Given the description of an element on the screen output the (x, y) to click on. 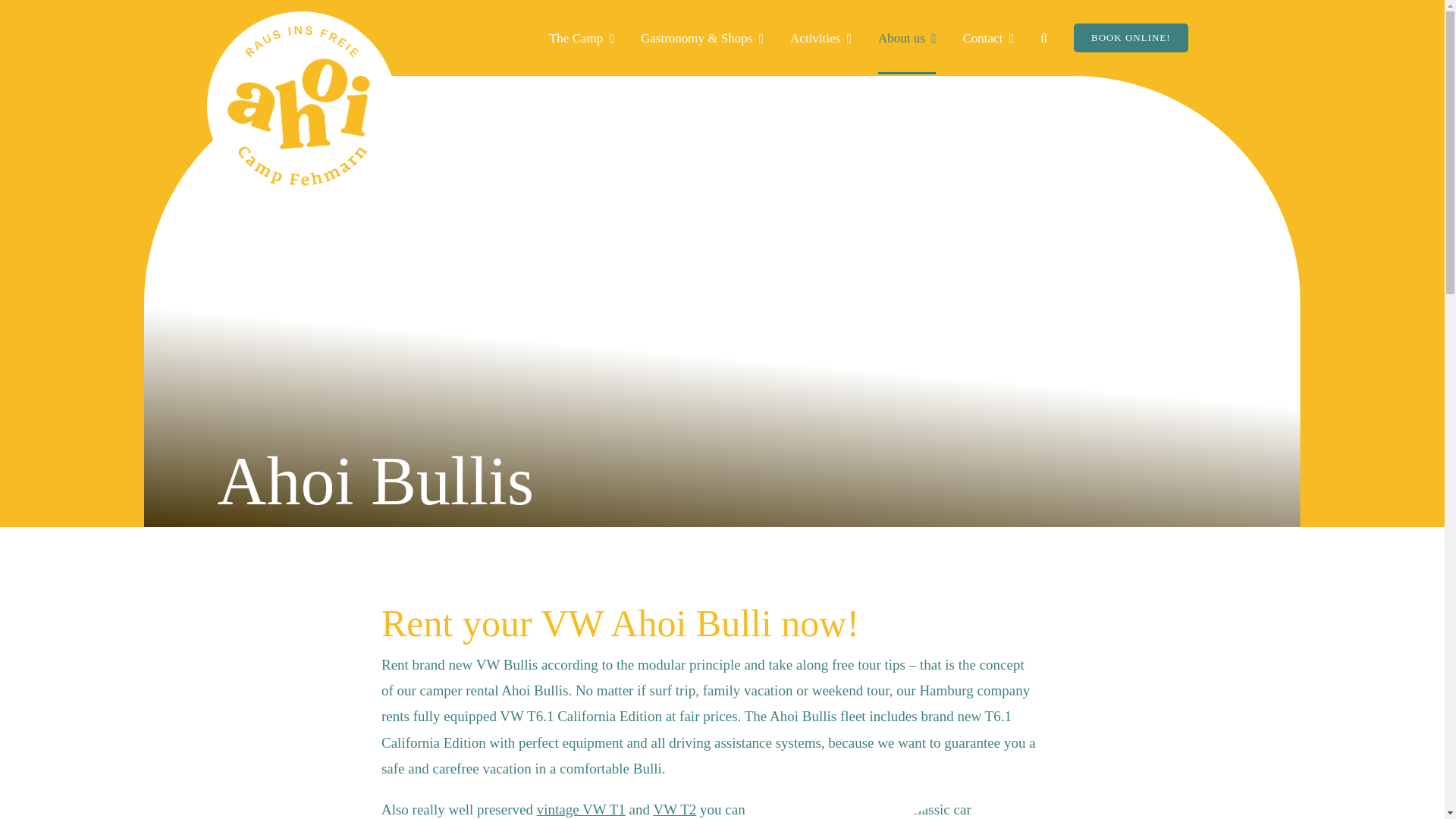
BOOK ONLINE! (1131, 37)
The Camp (581, 37)
